Given the description of an element on the screen output the (x, y) to click on. 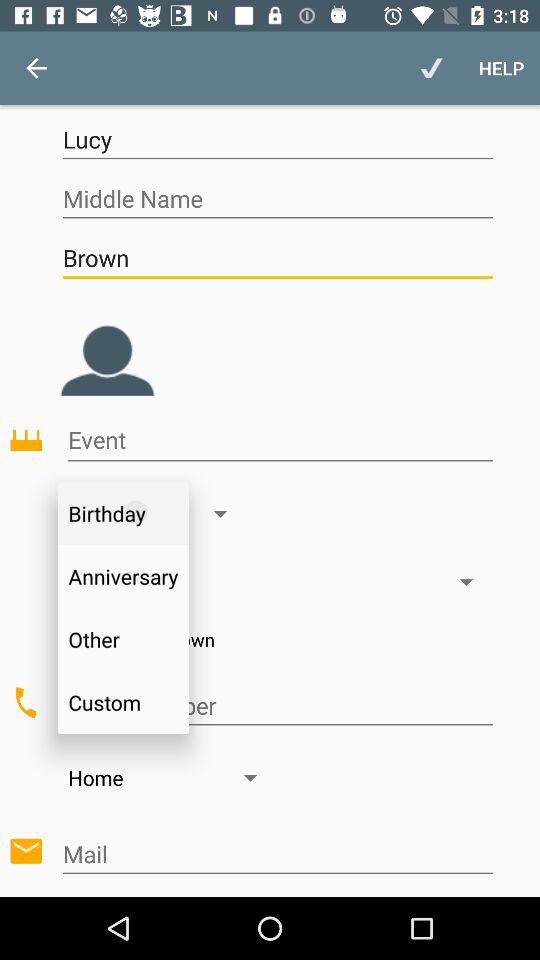
add photo (107, 345)
